Given the description of an element on the screen output the (x, y) to click on. 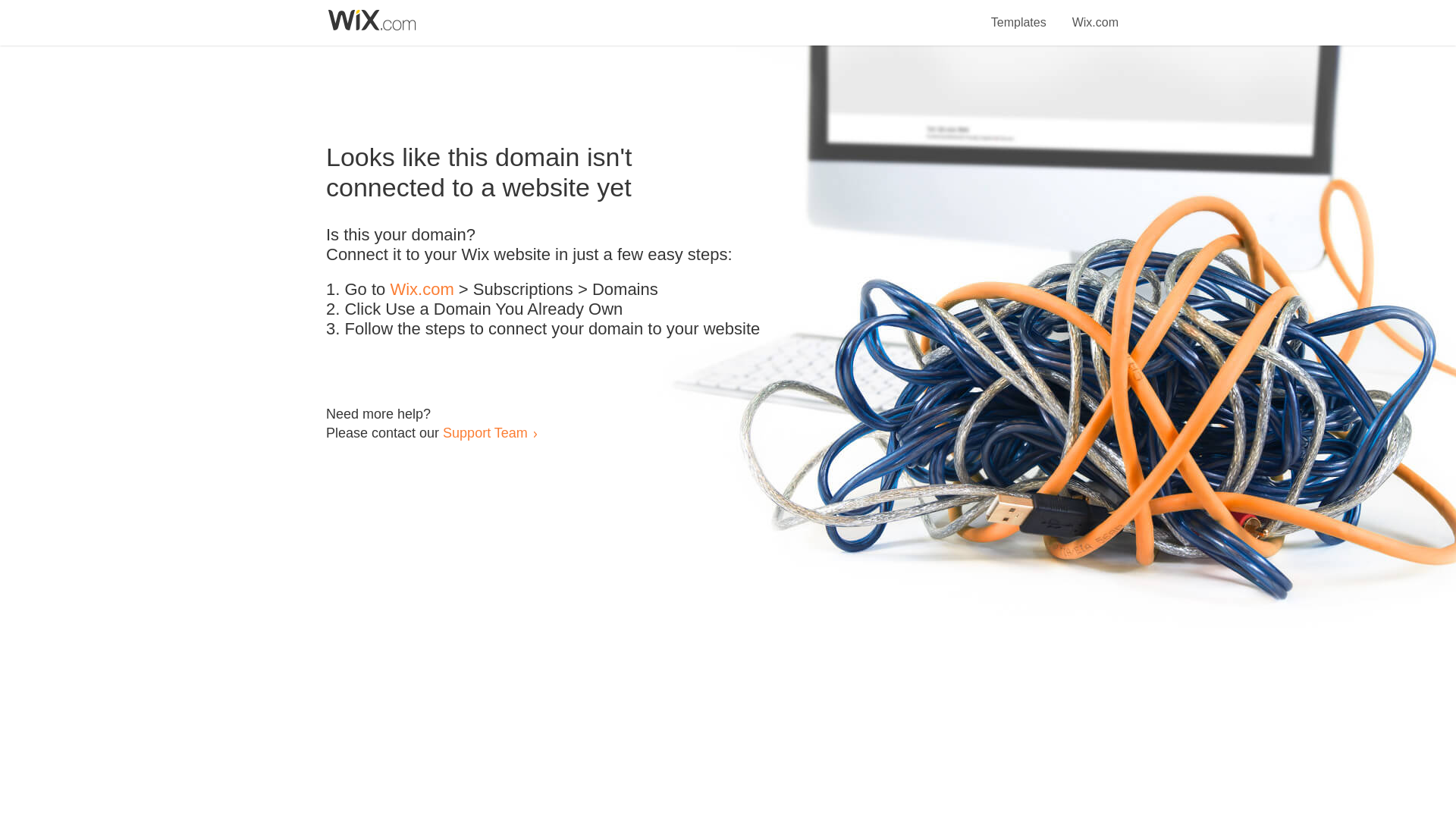
Templates (1018, 14)
Wix.com (421, 289)
Support Team (484, 432)
Wix.com (1095, 14)
